Given the description of an element on the screen output the (x, y) to click on. 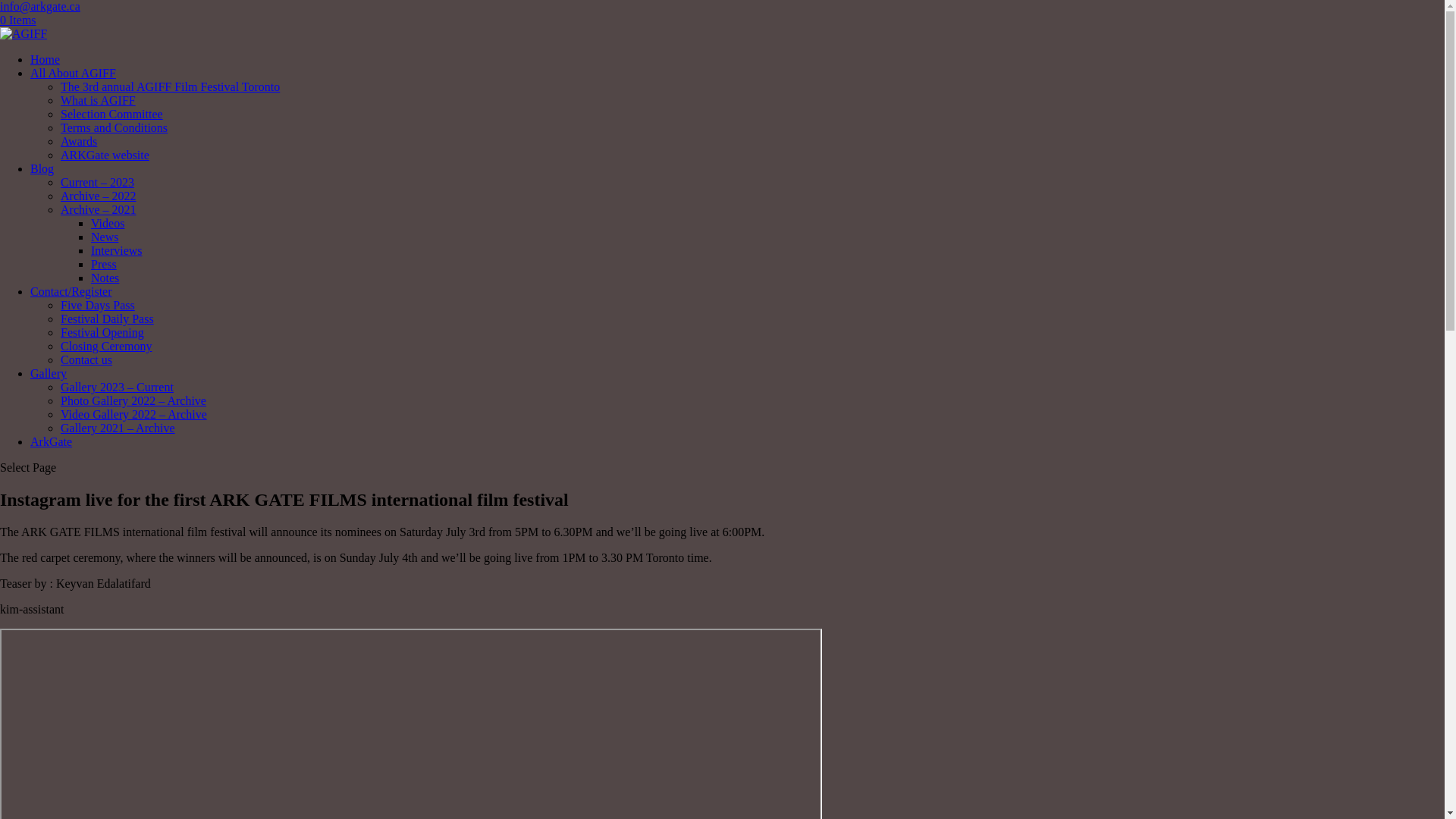
Interviews Element type: text (116, 250)
Five Days Pass Element type: text (97, 304)
Festival Opening Element type: text (102, 332)
Closing Ceremony Element type: text (105, 345)
Videos Element type: text (107, 222)
Festival Daily Pass Element type: text (106, 318)
Selection Committee Element type: text (111, 113)
News Element type: text (104, 236)
Blog Element type: text (41, 168)
Contact us Element type: text (86, 359)
Terms and Conditions Element type: text (113, 127)
What is AGIFF Element type: text (97, 100)
Home Element type: text (44, 59)
ArkGate Element type: text (51, 441)
Contact/Register Element type: text (71, 291)
Notes Element type: text (105, 277)
ARKGate website Element type: text (104, 154)
info@arkgate.ca Element type: text (40, 6)
Press Element type: text (103, 263)
0 Items Element type: text (18, 19)
Gallery Element type: text (48, 373)
The 3rd annual AGIFF Film Festival Toronto Element type: text (169, 86)
All About AGIFF Element type: text (73, 72)
Awards Element type: text (78, 140)
